Given the description of an element on the screen output the (x, y) to click on. 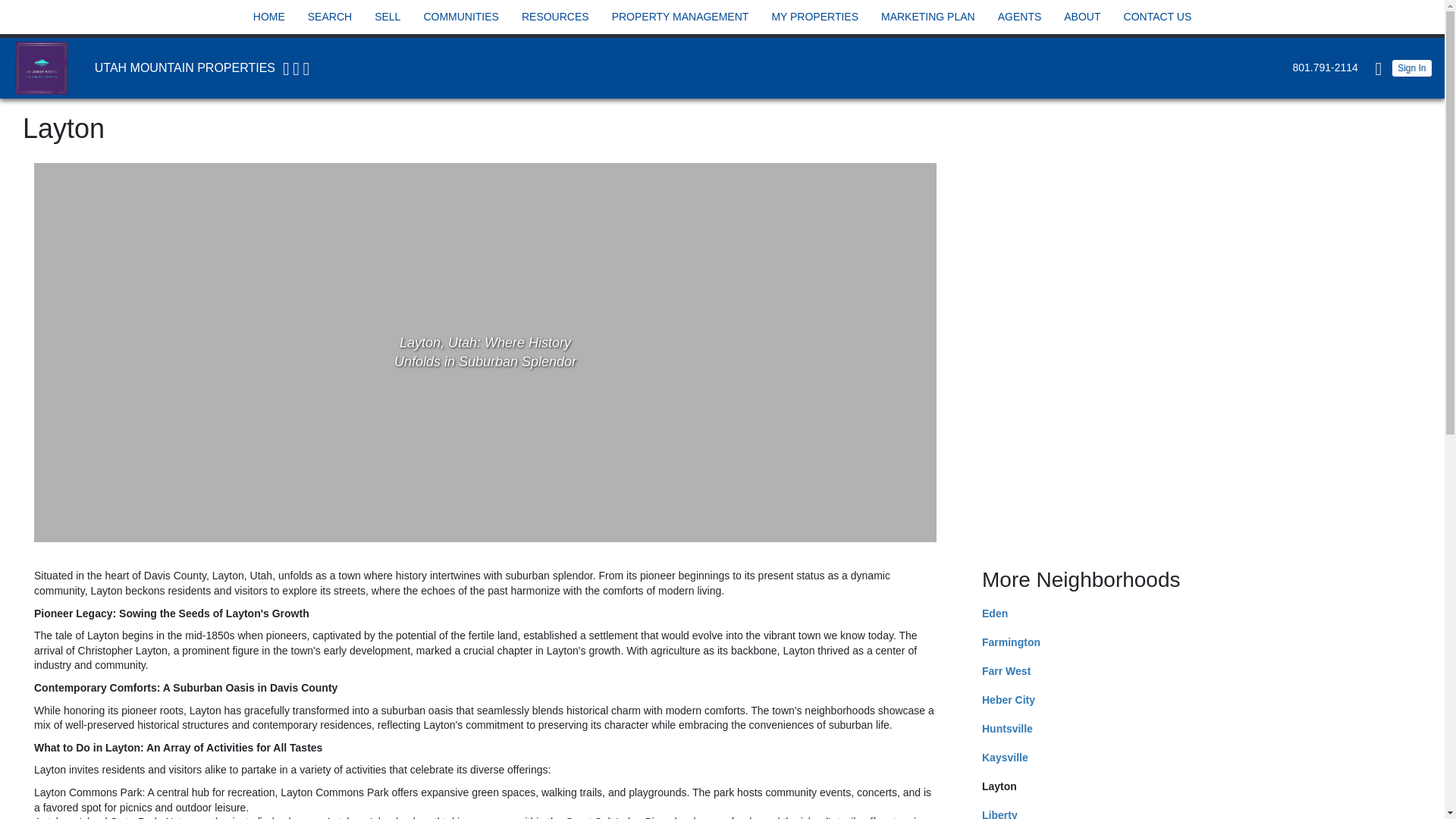
Farmington (1011, 642)
COMMUNITIES (460, 17)
CONTACT US (1157, 17)
AGENTS (1019, 17)
Heber City (1008, 699)
Sign In (1411, 67)
MY PROPERTIES (814, 17)
RESOURCES (555, 17)
Farr West (1005, 671)
HOME (268, 17)
